Given the description of an element on the screen output the (x, y) to click on. 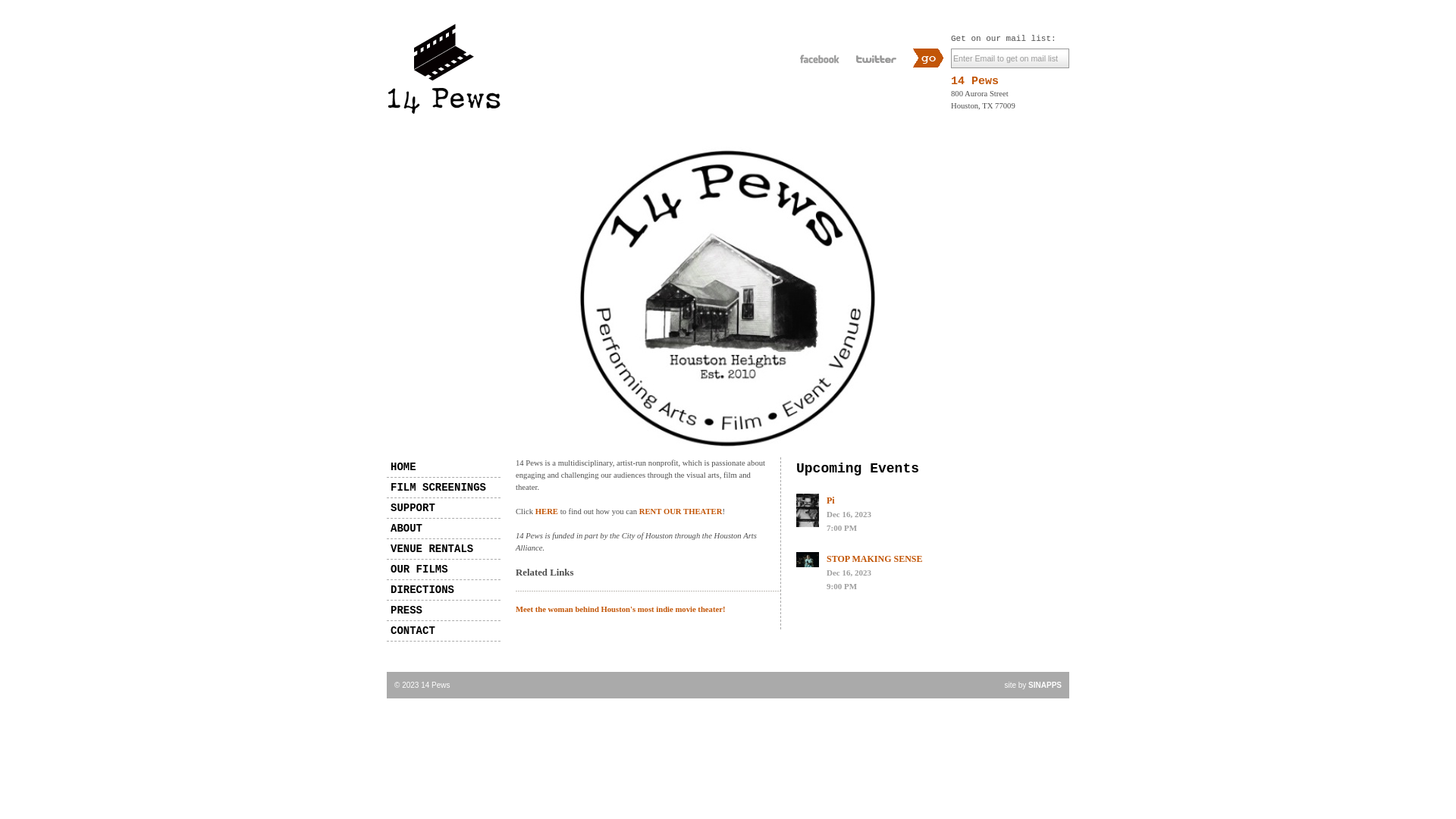
VENUE RENTALS Element type: text (443, 548)
Meet the woman behind Houston's most indie movie theater! Element type: text (619, 609)
Enter Email to get on mail list Element type: text (1009, 58)
Pi Element type: text (830, 499)
FILM SCREENINGS Element type: text (443, 487)
CONTACT Element type: text (443, 630)
14 Pews Element type: text (974, 81)
SINAPPS Element type: text (1044, 684)
DIRECTIONS Element type: text (443, 589)
OUR FILMS Element type: text (443, 569)
SUPPORT Element type: text (443, 507)
RENT OUR THEATER Element type: text (680, 511)
STOP MAKING SENSE Element type: text (874, 558)
ABOUT Element type: text (443, 528)
HOME Element type: text (443, 466)
HERE Element type: text (545, 511)
PRESS Element type: text (443, 610)
